Given the description of an element on the screen output the (x, y) to click on. 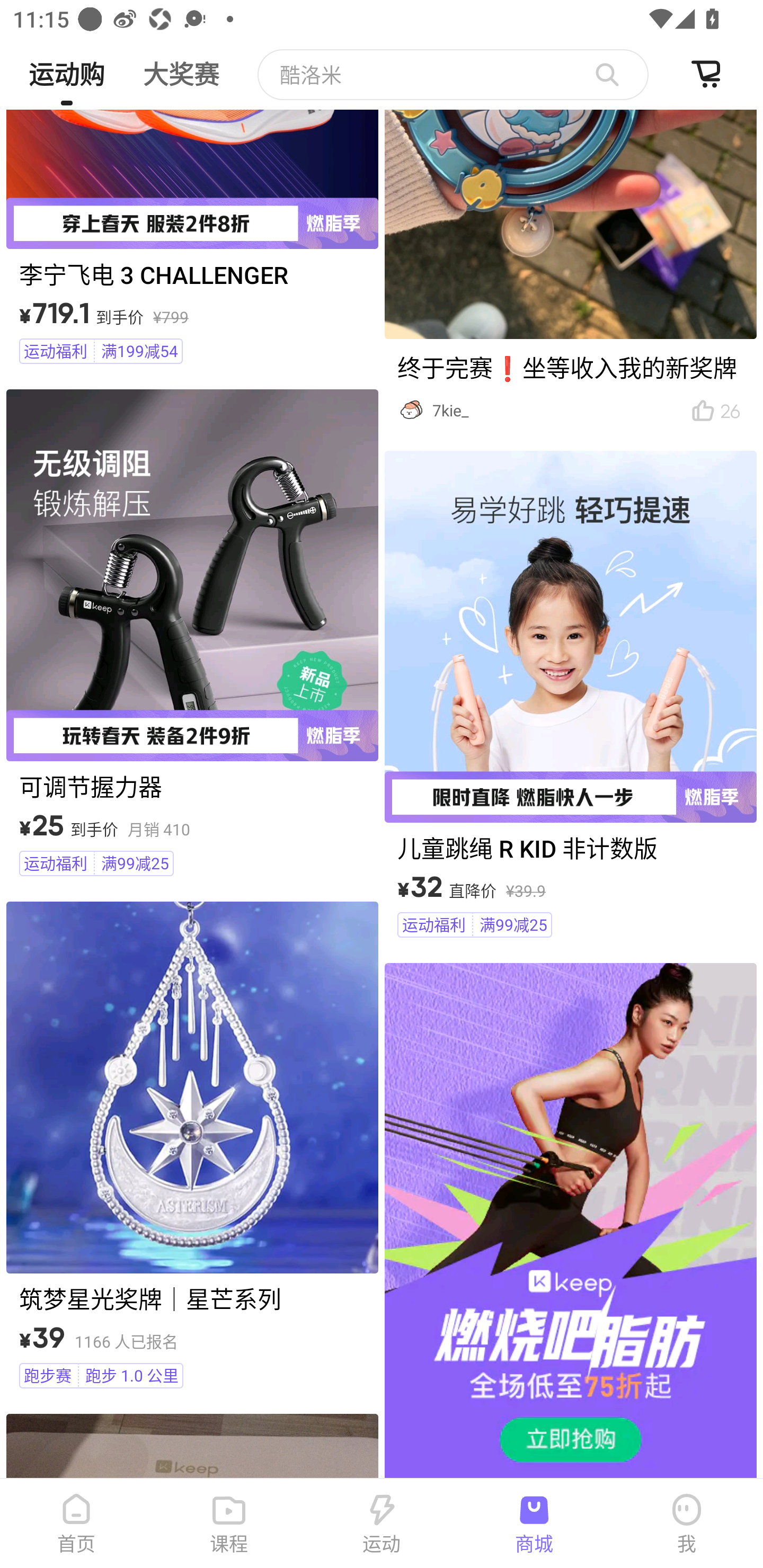
运动购 (66, 66)
大奖赛 (180, 66)
酷洛米 (452, 74)
李宁飞电 3 CHALLENGER ¥ 719.1 到手价 ¥799 运动福利 满199减54 (192, 239)
7kie_ 26  (570, 270)
可调节握力器 ¥ 25 到手价 月销 410 运动福利 满99减25 (192, 635)
7kie_ (550, 410)
儿童跳绳 R KID 非计数版 ¥ 32 直降价 ¥39.9 运动福利 满99减25 (570, 697)
筑梦星光奖牌｜星芒系列 ¥ 39 1166 人已报名 跑步赛 跑步 1.0 公里 (192, 1148)
首页 (76, 1523)
课程 (228, 1523)
运动 (381, 1523)
商城 (533, 1523)
我 (686, 1523)
